Given the description of an element on the screen output the (x, y) to click on. 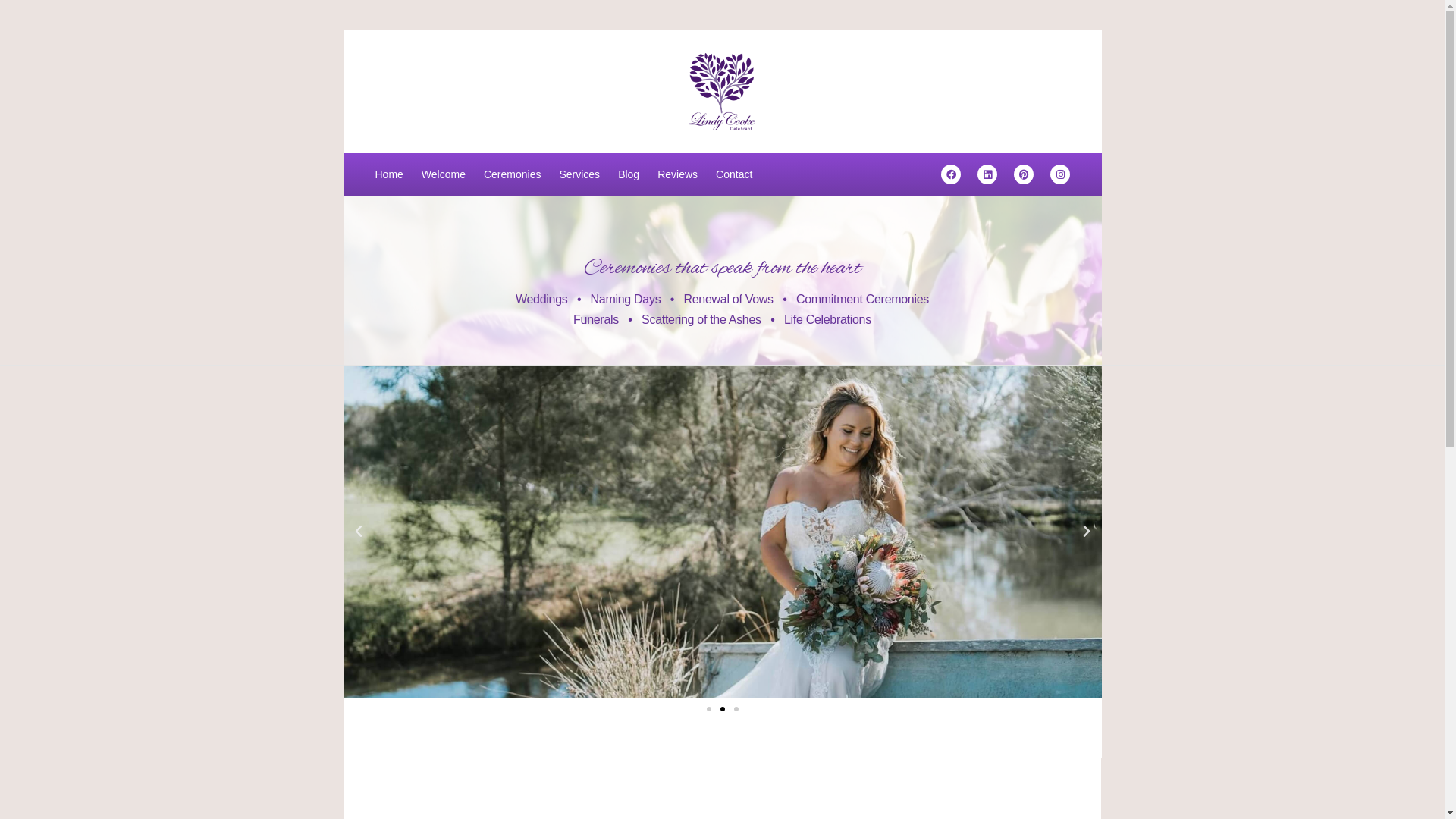
Ceremonies Element type: text (511, 173)
Blog Element type: text (628, 173)
Reviews Element type: text (677, 173)
Welcome Element type: text (443, 173)
Services Element type: text (578, 173)
Home Element type: text (388, 173)
Contact Element type: text (733, 173)
